Given the description of an element on the screen output the (x, y) to click on. 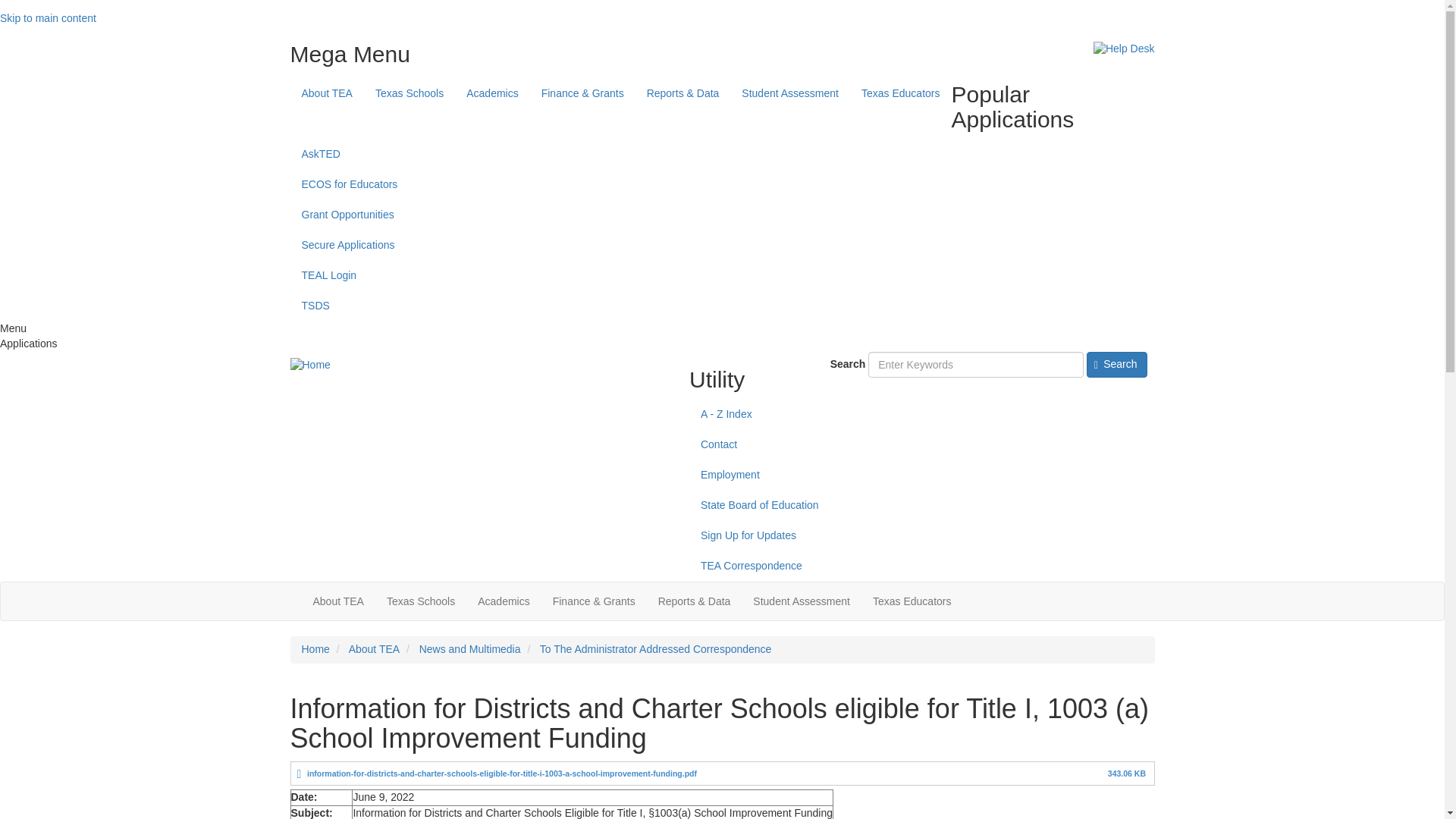
Open file in new window (502, 773)
Skip to main content (48, 18)
Texas Schools (409, 93)
About TEA (325, 93)
Home (309, 365)
Academics (491, 93)
Help Desk (1123, 48)
